Given the description of an element on the screen output the (x, y) to click on. 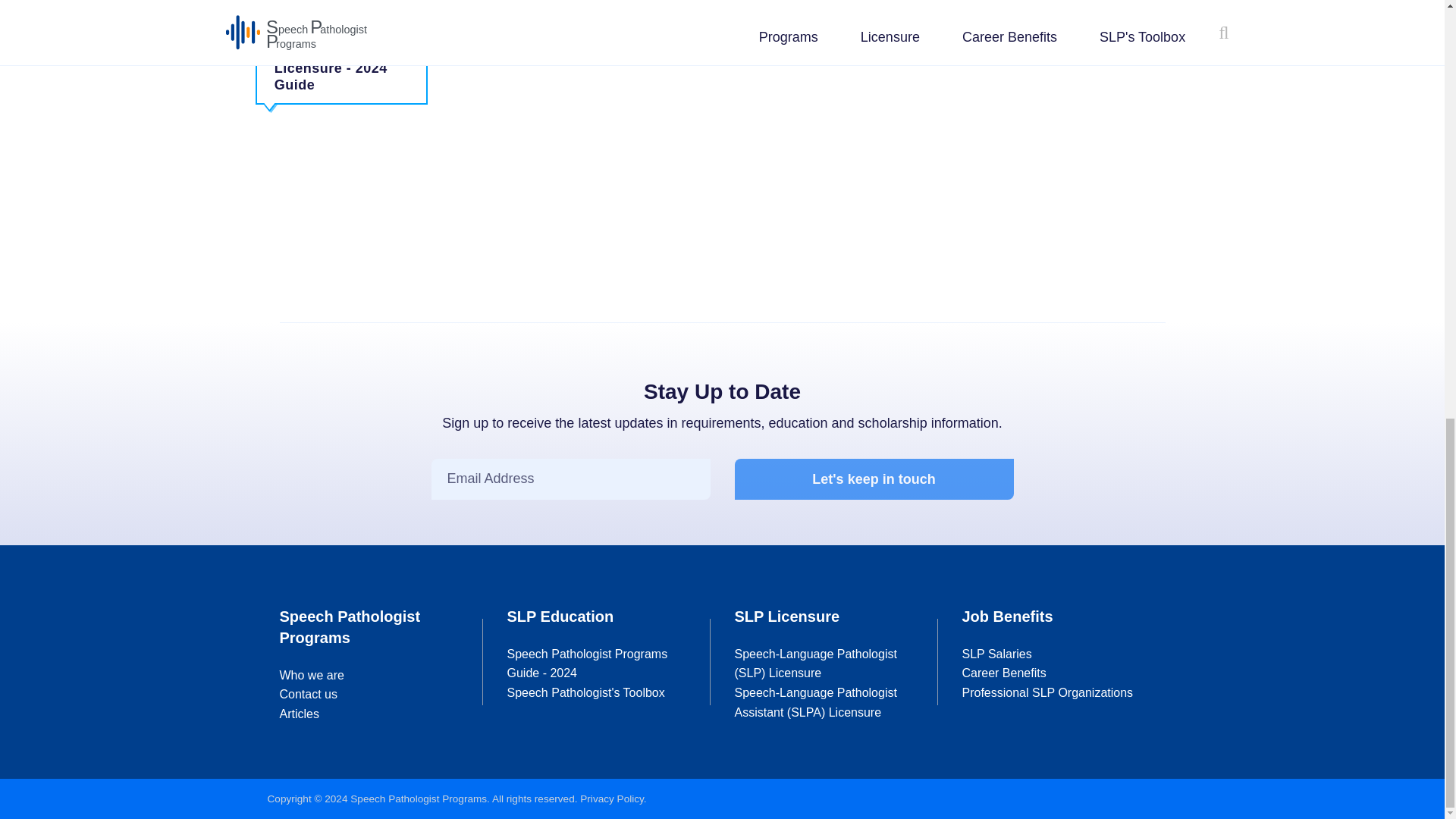
Who we are (311, 675)
Let's keep in touch (873, 479)
Let's keep in touch (873, 479)
Contact us (307, 694)
Articles (298, 713)
